Given the description of an element on the screen output the (x, y) to click on. 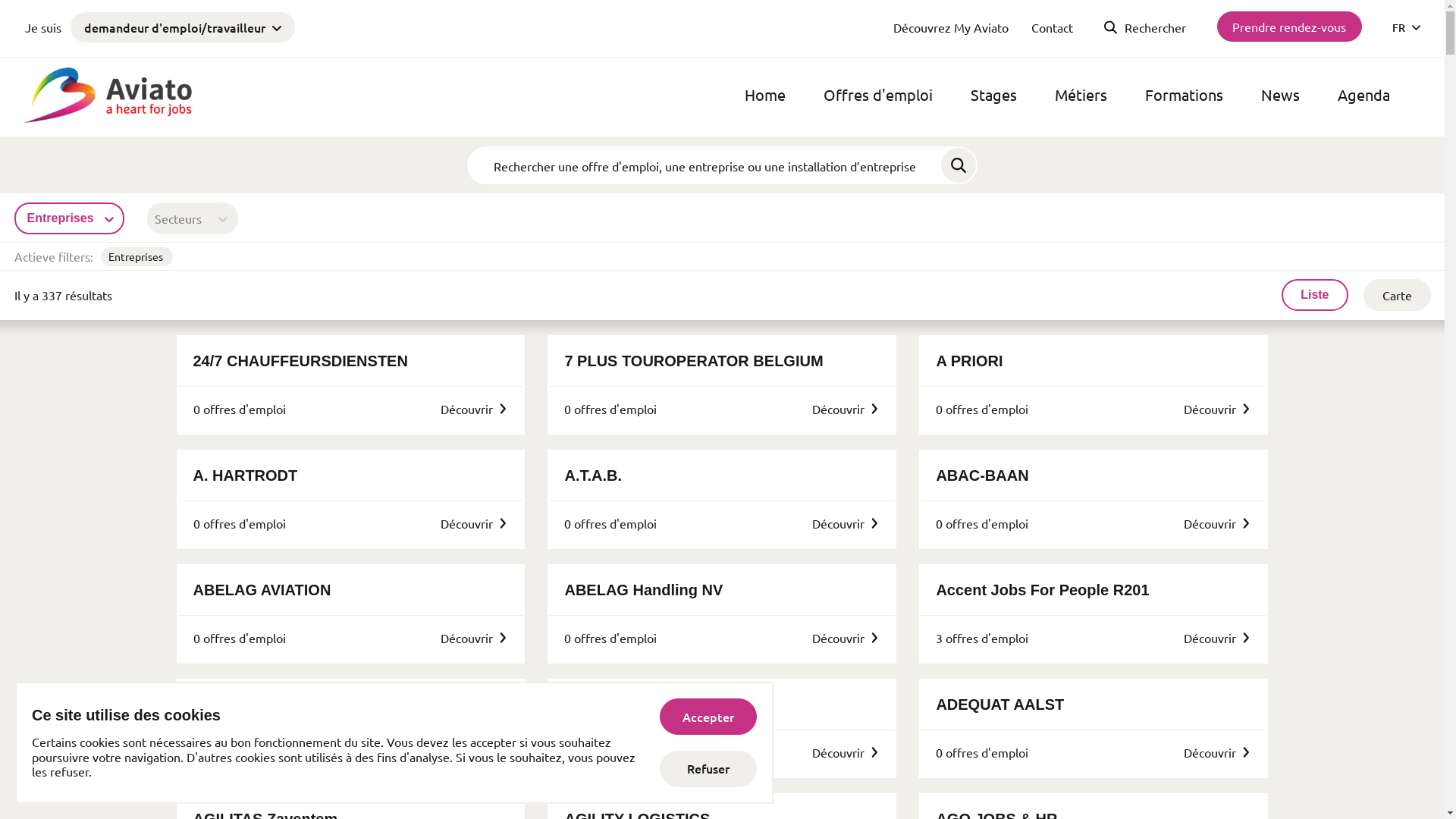
22 offres d'emploi Element type: text (613, 752)
Formations Element type: text (1184, 94)
0 offres d'emploi Element type: text (981, 523)
Home Element type: text (764, 94)
Offres d'emploi Element type: text (877, 94)
Refuser Element type: text (707, 768)
3 offres d'emploi Element type: text (238, 752)
0 offres d'emploi Element type: text (610, 408)
Stages Element type: text (993, 94)
Agenda Element type: text (1363, 94)
Aller au contenu principal Element type: text (0, 0)
News Element type: text (1279, 94)
FR Element type: text (1406, 26)
Zoeken Element type: text (958, 164)
Accepter Element type: text (707, 716)
0 offres d'emploi Element type: text (981, 752)
Contact Element type: text (1052, 26)
0 offres d'emploi Element type: text (610, 523)
0 offres d'emploi Element type: text (981, 408)
3 offres d'emploi Element type: text (981, 637)
0 offres d'emploi Element type: text (238, 637)
demandeur d'emploi/travailleur Element type: text (181, 27)
0 offres d'emploi Element type: text (238, 523)
0 offres d'emploi Element type: text (610, 637)
0 offres d'emploi Element type: text (238, 408)
Prendre rendez-vous Element type: text (1289, 26)
